Given the description of an element on the screen output the (x, y) to click on. 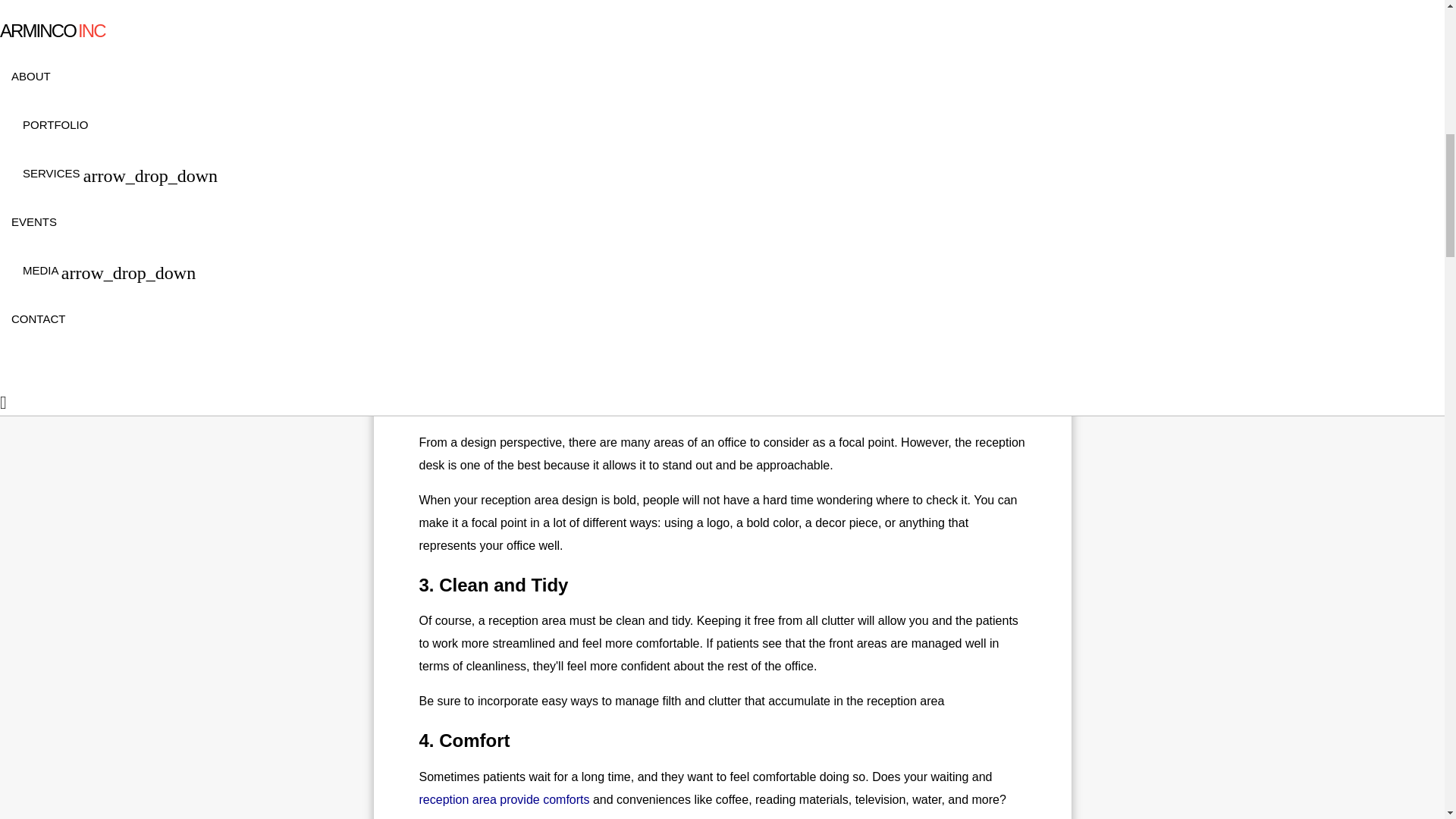
important in businesse (853, 5)
flustered, worried, or concerned (820, 320)
reception area provide comforts (504, 799)
